Given the description of an element on the screen output the (x, y) to click on. 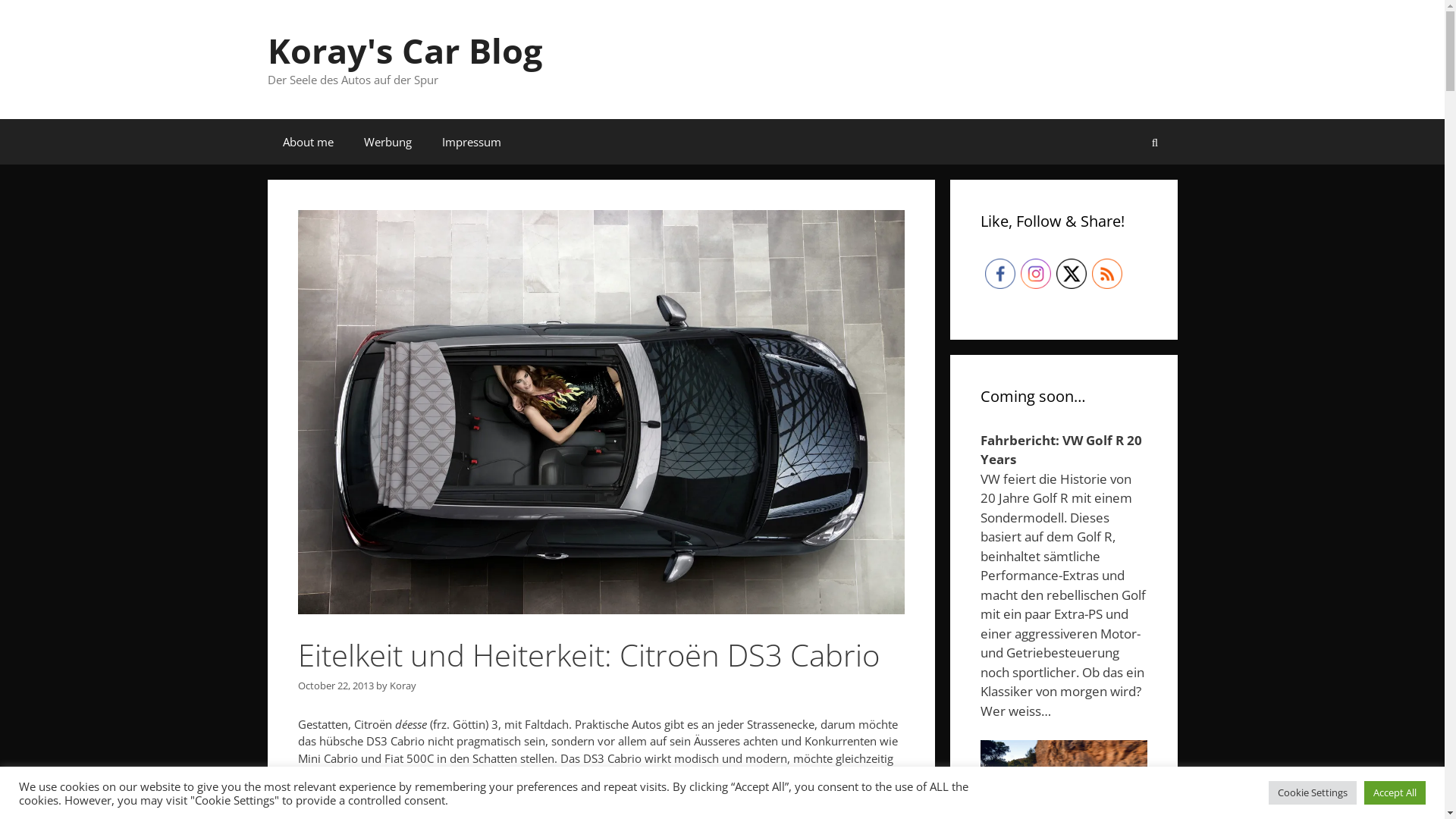
Cookie Settings Element type: text (1312, 792)
Accept All Element type: text (1394, 792)
Impressum Element type: text (470, 140)
Werbung Element type: text (387, 140)
Facebook Element type: hover (999, 272)
Koray's Car Blog Element type: text (403, 50)
Instagram Element type: hover (1035, 272)
Koray Element type: text (402, 685)
RSS Element type: hover (1107, 272)
Twitter Element type: hover (1070, 272)
About me Element type: text (307, 140)
